Given the description of an element on the screen output the (x, y) to click on. 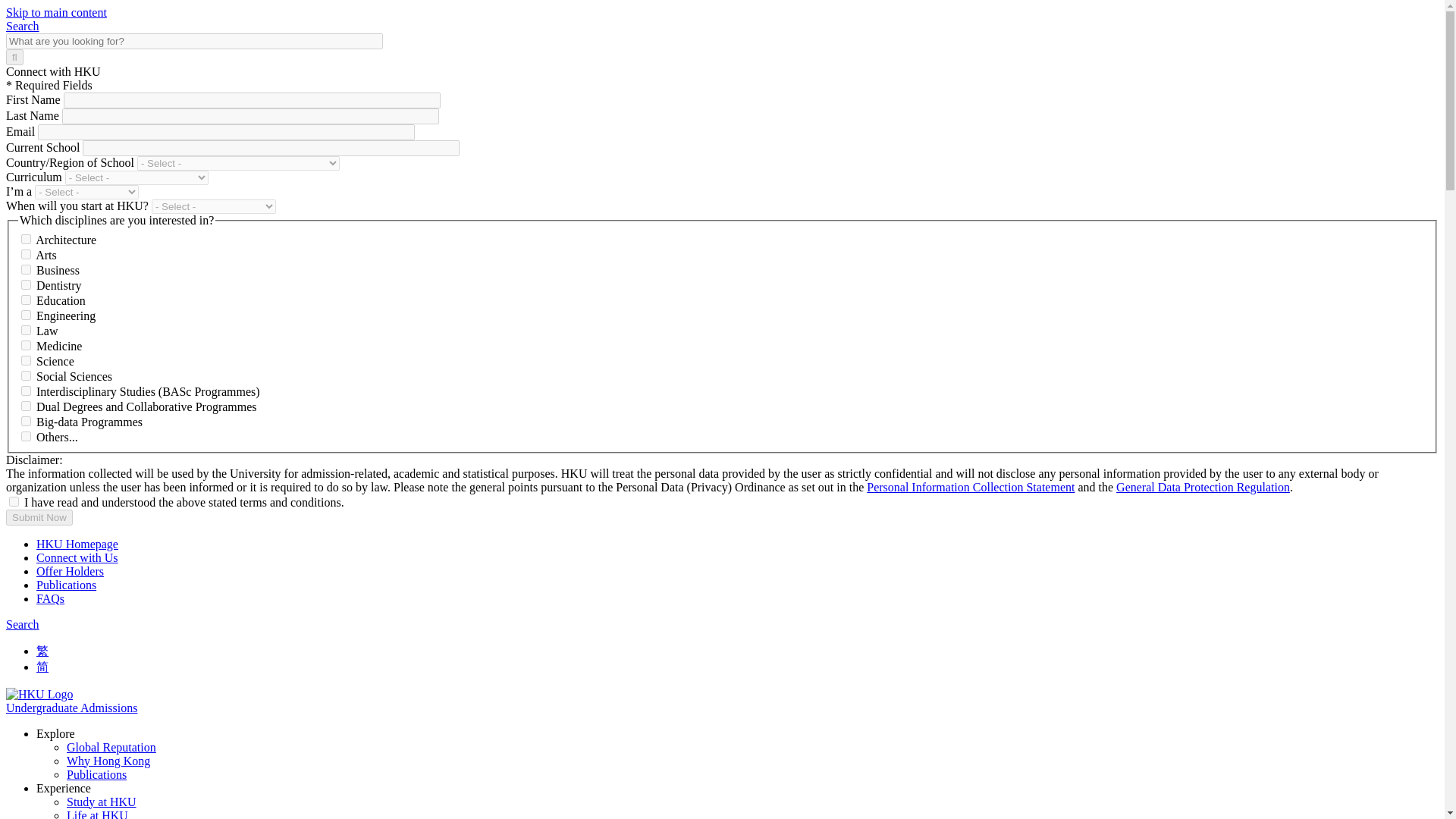
Dentistry  (25, 284)
Search (22, 624)
Architecture  (25, 239)
Others... (25, 436)
Skip to main content (55, 11)
Connect with Us (76, 557)
Law  (25, 329)
Study at HKU (101, 801)
General Data Protection Regulation (1203, 486)
Offer Holders (69, 571)
Dual Degrees and Collaborative Programmes  (25, 406)
Science  (25, 360)
Arts  (25, 254)
Big-data Programmes (25, 420)
Publications (96, 774)
